Given the description of an element on the screen output the (x, y) to click on. 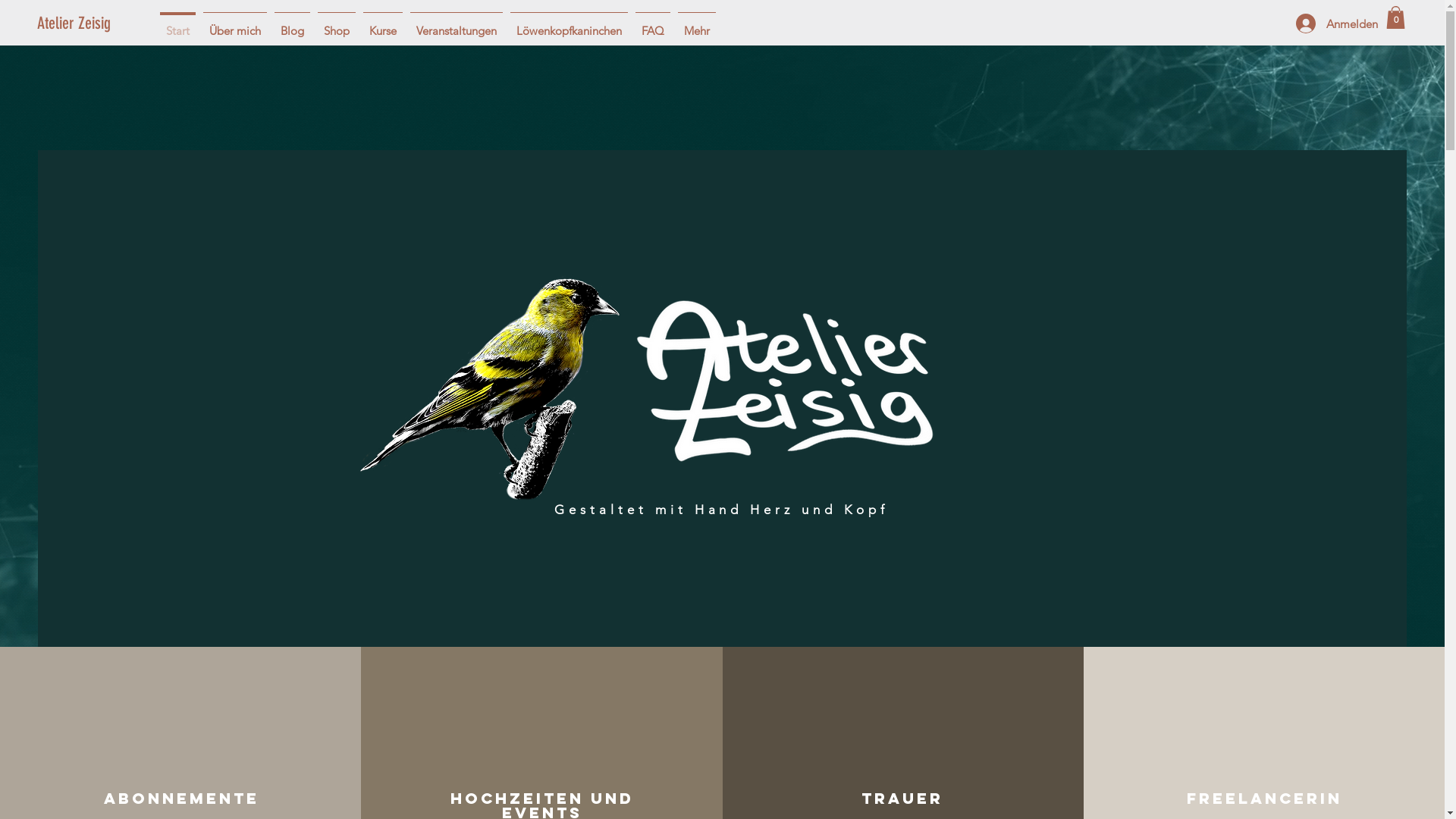
Blog Element type: text (291, 24)
Kurse Element type: text (382, 24)
FAQ Element type: text (652, 24)
Start Element type: text (177, 24)
Atelier Zeisig Element type: text (93, 23)
Anmelden Element type: text (1330, 23)
Shop Element type: text (336, 24)
0 Element type: text (1395, 17)
Veranstaltungen Element type: text (456, 24)
